Given the description of an element on the screen output the (x, y) to click on. 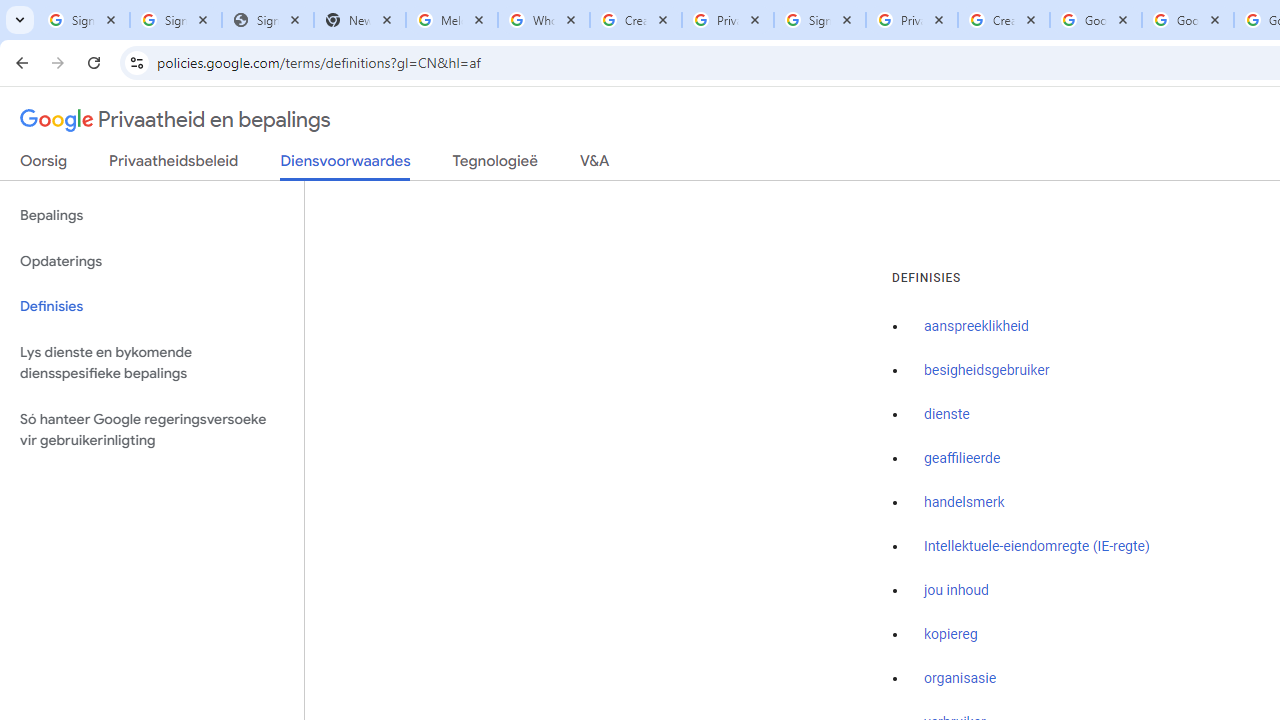
Oorsig (43, 165)
Create your Google Account (636, 20)
handelsmerk (964, 502)
Lys dienste en bykomende diensspesifieke bepalings (152, 362)
dienste (947, 415)
Intellektuele-eiendomregte (IE-regte) (1036, 546)
kopiereg (950, 634)
aanspreeklikheid (976, 327)
organisasie (960, 679)
